Given the description of an element on the screen output the (x, y) to click on. 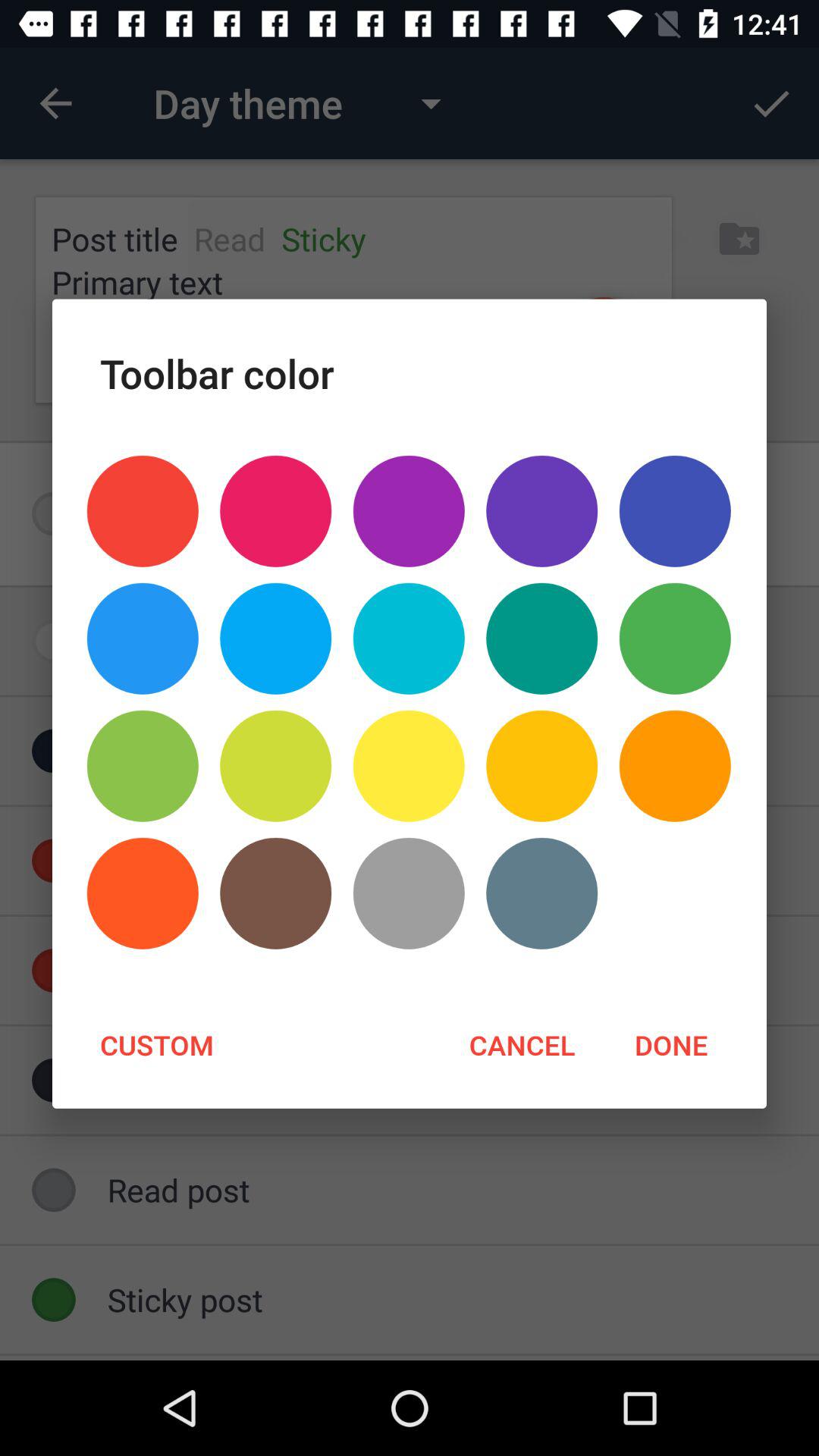
select the item next to cancel (670, 1044)
